Given the description of an element on the screen output the (x, y) to click on. 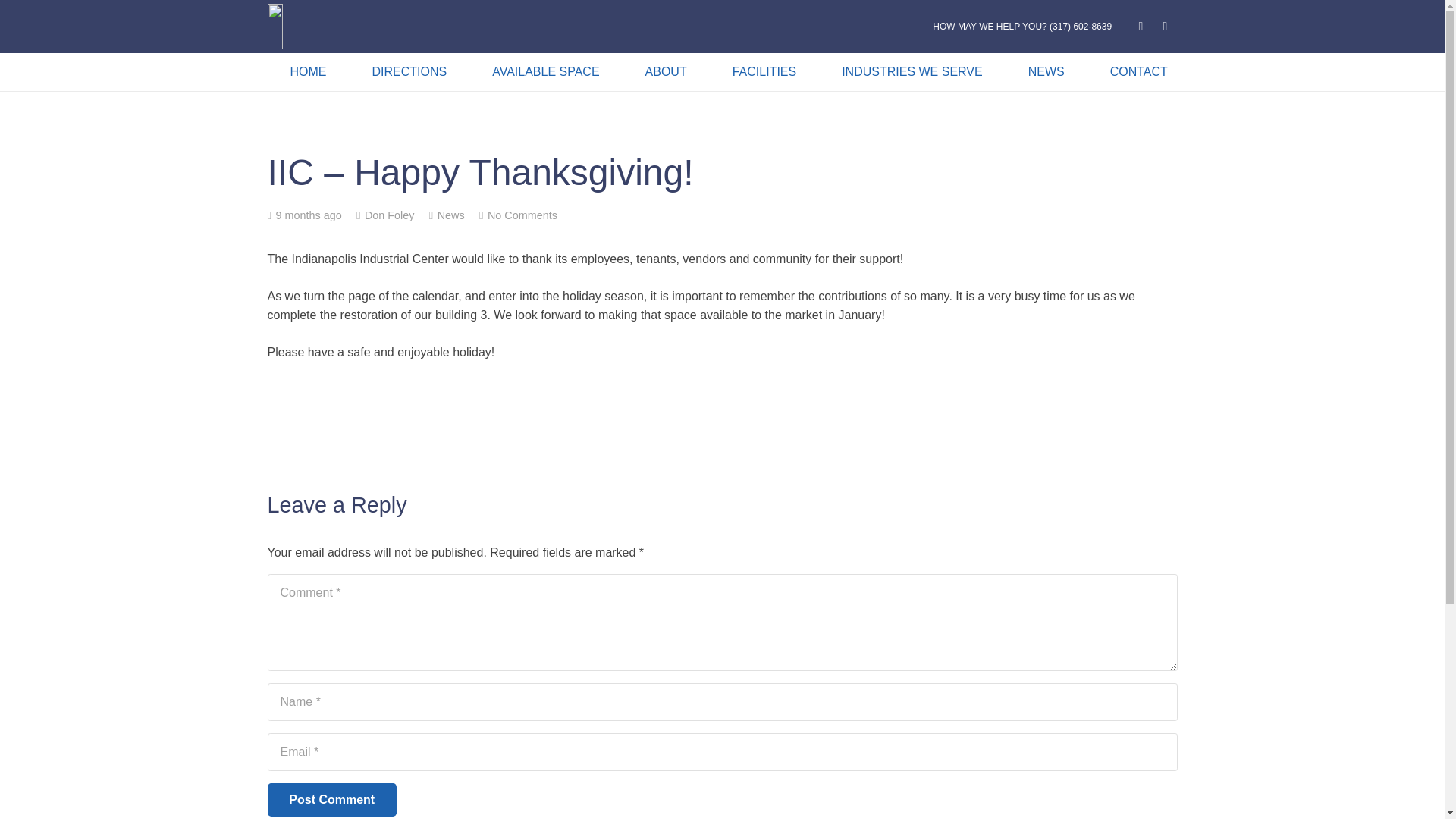
AVAILABLE SPACE (544, 71)
No Comments (522, 215)
No Comments (522, 215)
Post Comment (331, 799)
CONTACT (1139, 71)
Title (1140, 26)
News (451, 215)
NEWS (1046, 71)
HOME (307, 71)
FACILITIES (764, 71)
